Given the description of an element on the screen output the (x, y) to click on. 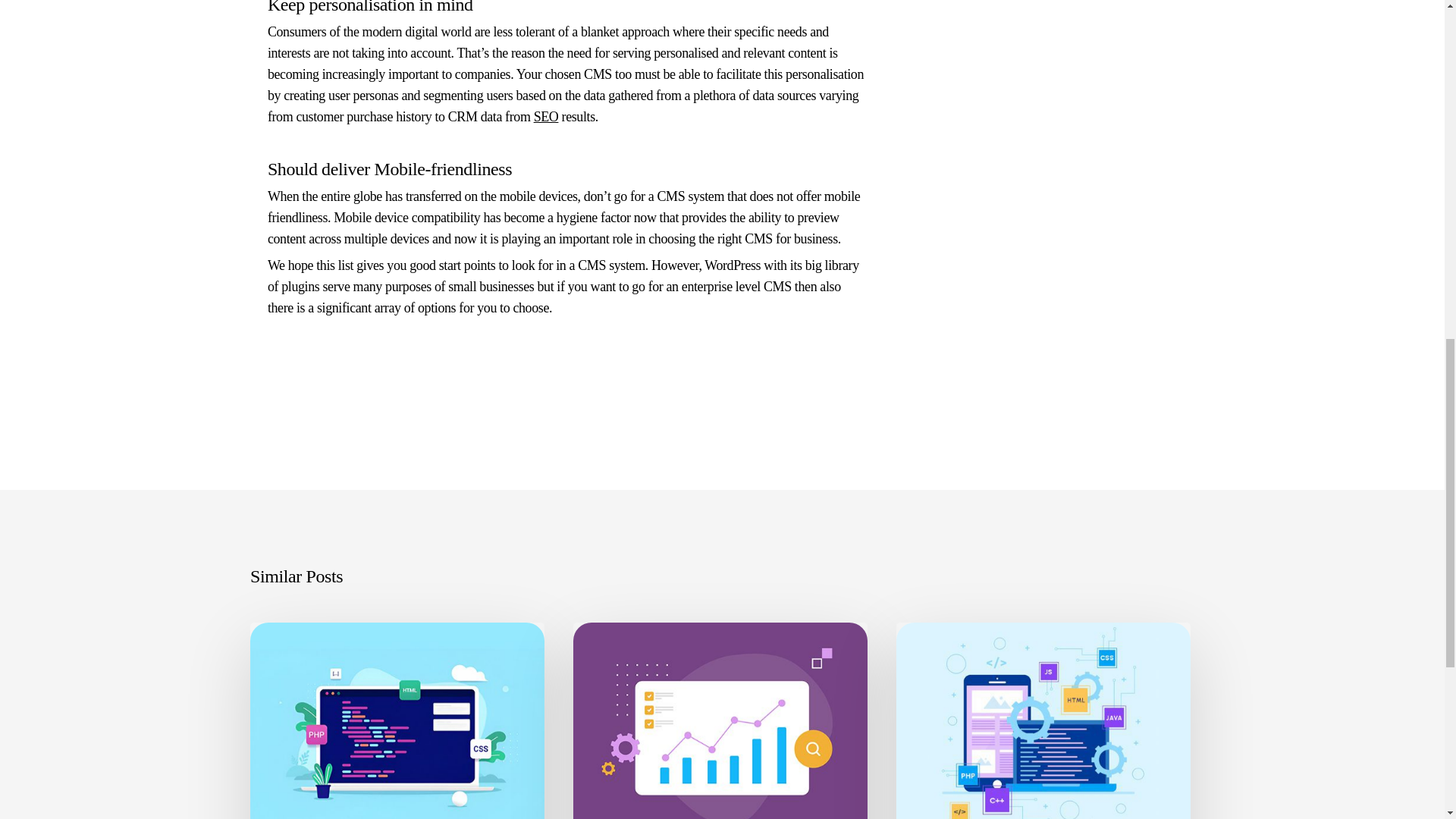
SEO (546, 116)
